Given the description of an element on the screen output the (x, y) to click on. 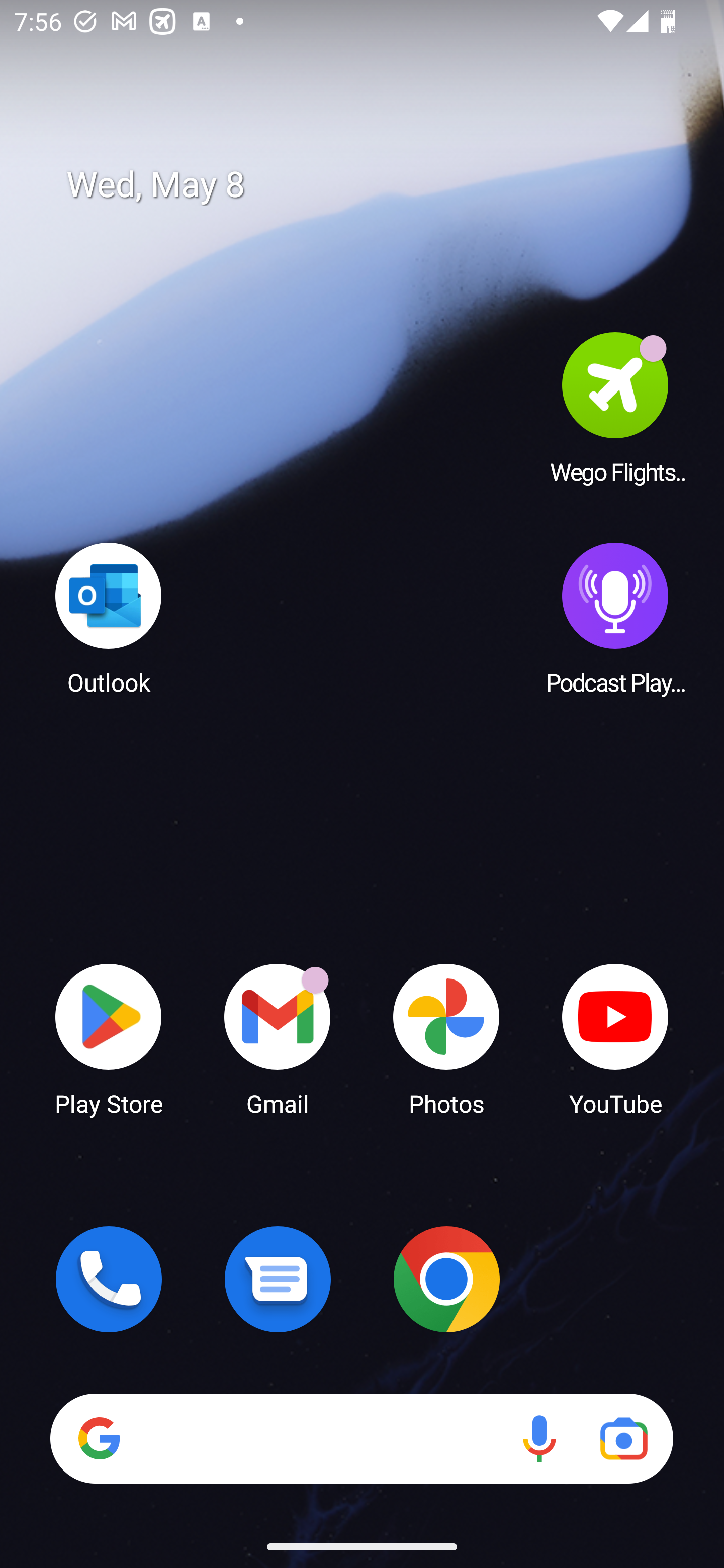
Wed, May 8 (375, 184)
Outlook (108, 617)
Podcast Player (615, 617)
Play Store (108, 1038)
Gmail Gmail has 17 notifications (277, 1038)
Photos (445, 1038)
YouTube (615, 1038)
Phone (108, 1279)
Messages (277, 1279)
Chrome (446, 1279)
Voice search (539, 1438)
Google Lens (623, 1438)
